Given the description of an element on the screen output the (x, y) to click on. 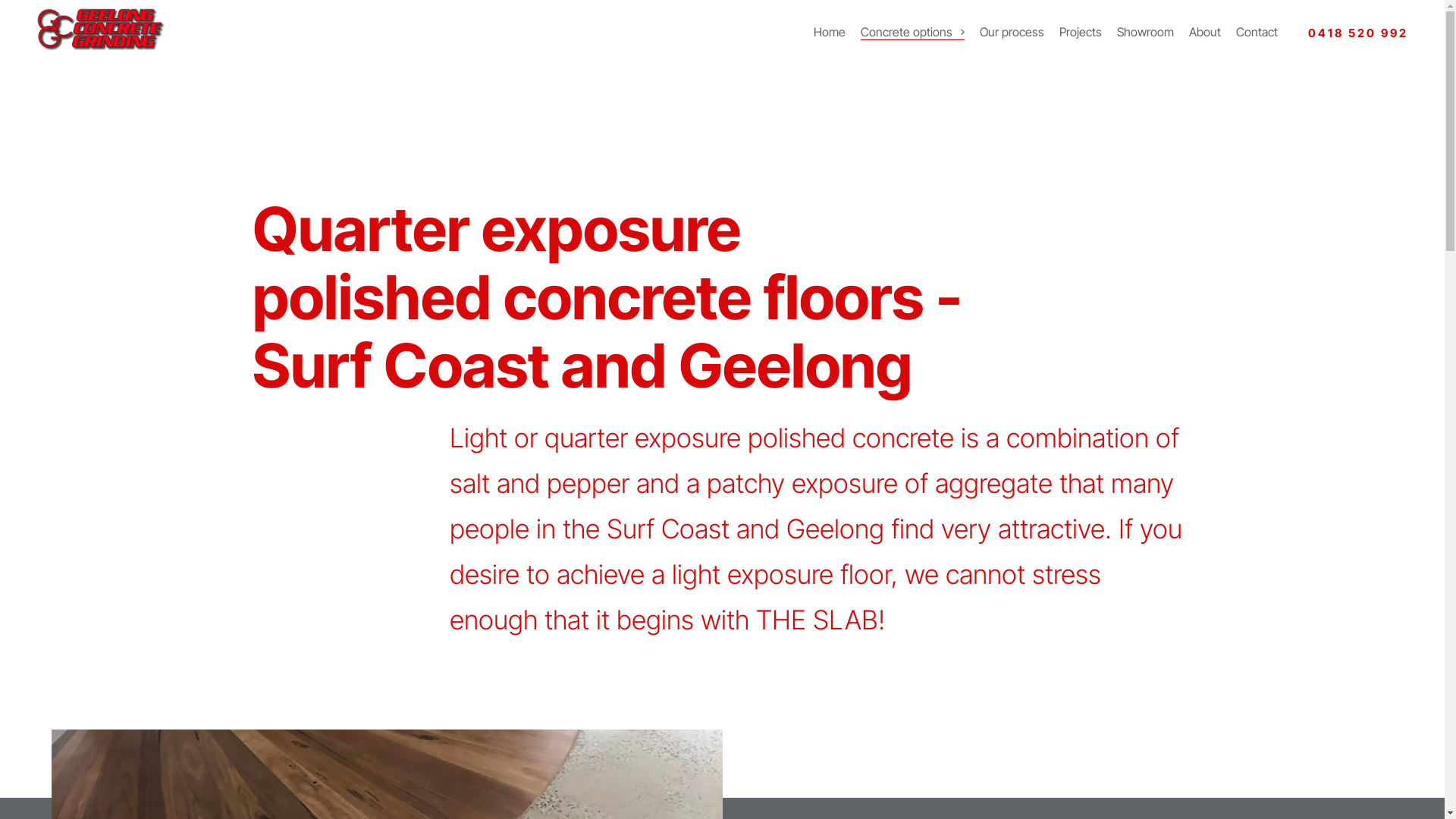
Projects Element type: text (1080, 32)
0418 520 992 Element type: text (1358, 32)
About Element type: text (1204, 32)
Contact Element type: text (1256, 32)
Home Element type: text (829, 32)
Showroom Element type: text (1145, 32)
Our process Element type: text (1011, 32)
Concrete options Element type: text (912, 32)
